Given the description of an element on the screen output the (x, y) to click on. 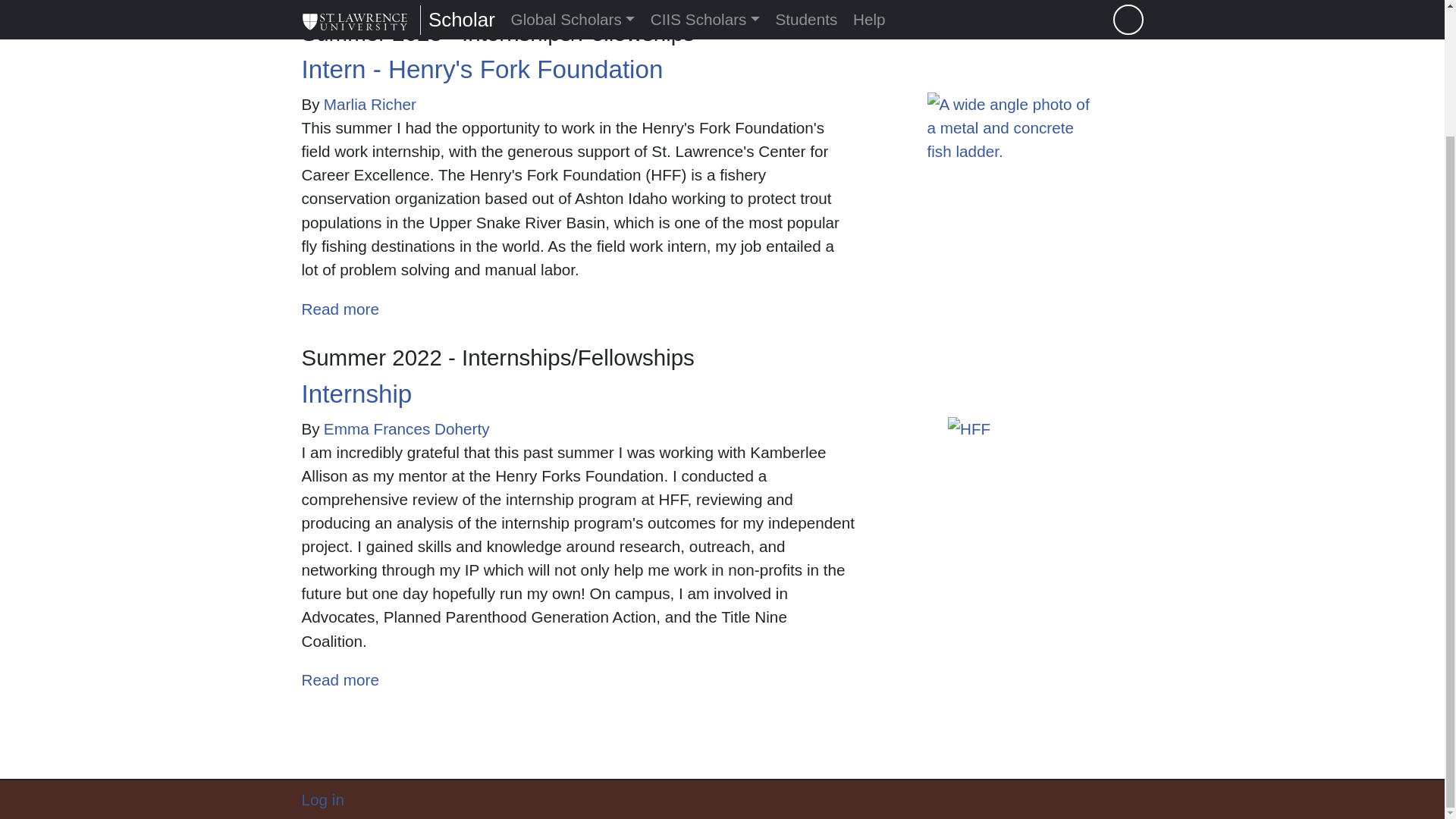
Intern - Henry's Fork Foundation (340, 679)
Marlia Richer (340, 308)
Emma Frances Doherty (340, 308)
Intern - Henry's Fork Foundation (369, 104)
Internship (406, 428)
Internship (482, 69)
